Given the description of an element on the screen output the (x, y) to click on. 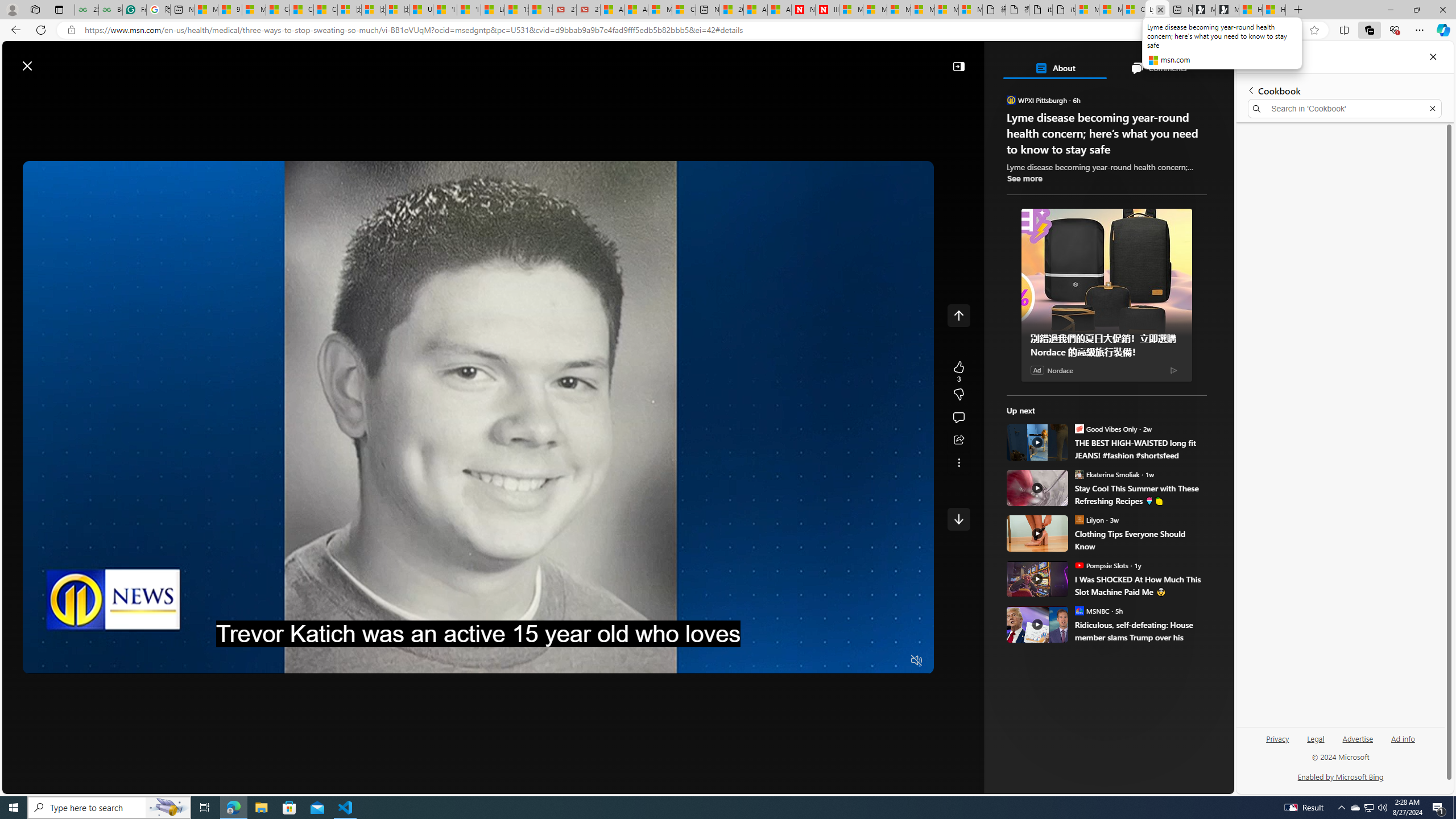
Restore (1416, 9)
Microsoft Start (53, 60)
View site information (70, 29)
Pompsie Slots Pompsie Slots (1101, 565)
Fullscreen (895, 660)
Good Vibes Only Good Vibes Only (1105, 428)
Ad info (1402, 742)
Address and search bar (669, 29)
Microsoft Services Agreement (874, 9)
Ad info (1402, 738)
Ad Choice (1173, 369)
Notifications (1186, 60)
